Given the description of an element on the screen output the (x, y) to click on. 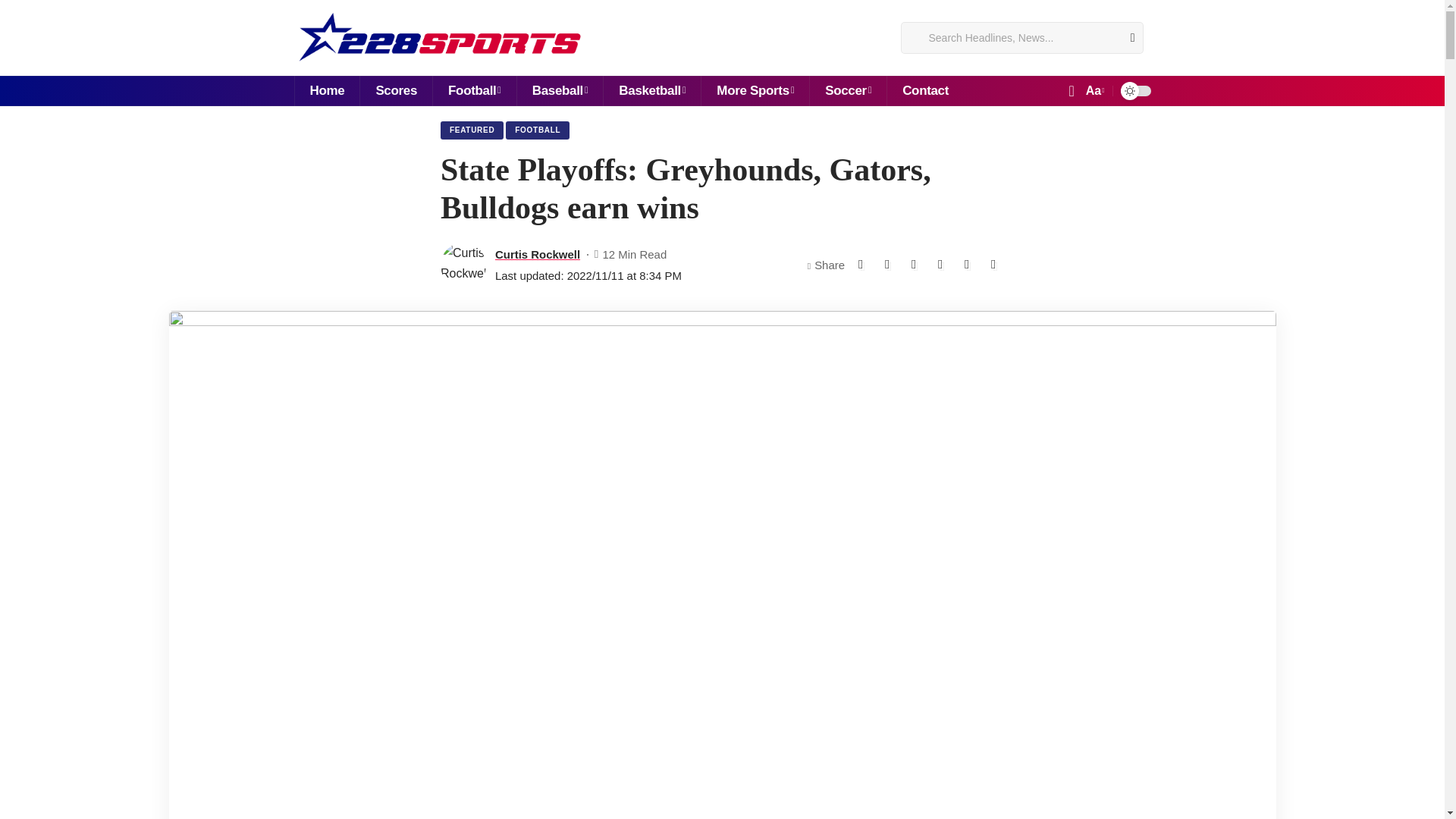
Home (326, 91)
Search (1126, 37)
Baseball (560, 91)
Scores (395, 91)
228 Sports (440, 37)
Football (474, 91)
Basketball (651, 91)
